Given the description of an element on the screen output the (x, y) to click on. 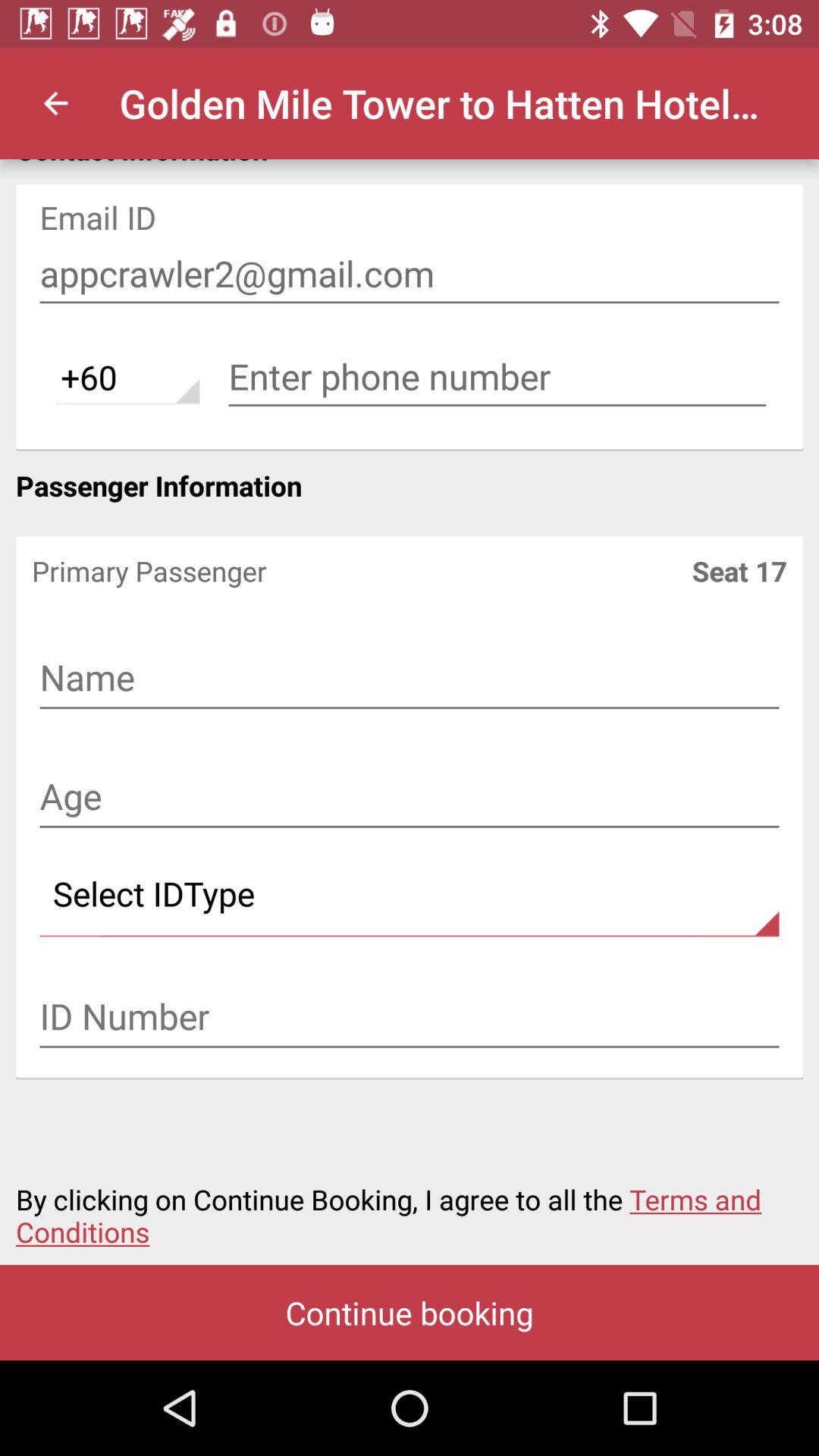
choose item below the primary passenger (409, 679)
